Given the description of an element on the screen output the (x, y) to click on. 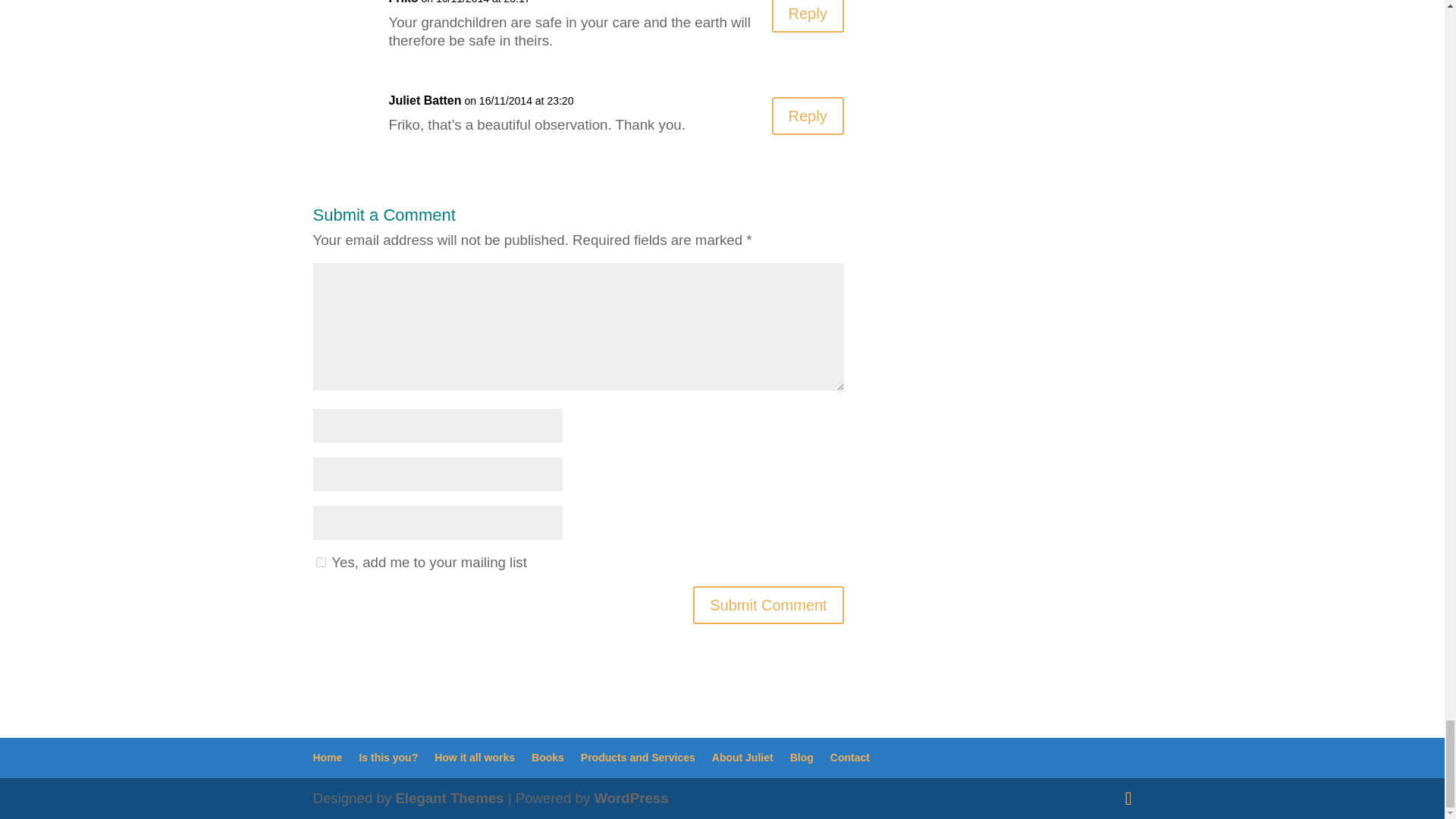
1 (319, 562)
Premium WordPress Themes (448, 797)
